Given the description of an element on the screen output the (x, y) to click on. 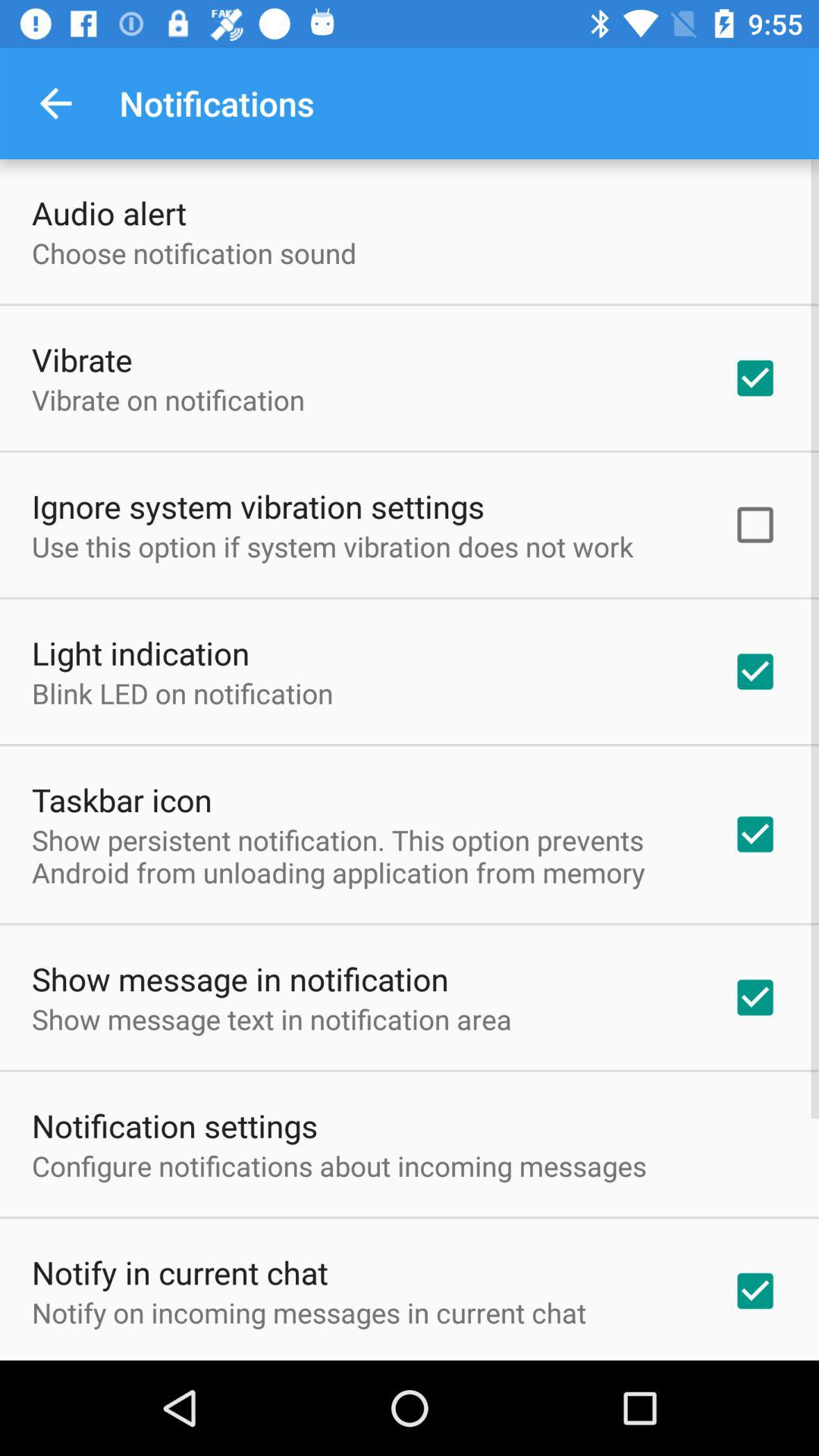
select app to the left of notifications (55, 103)
